Given the description of an element on the screen output the (x, y) to click on. 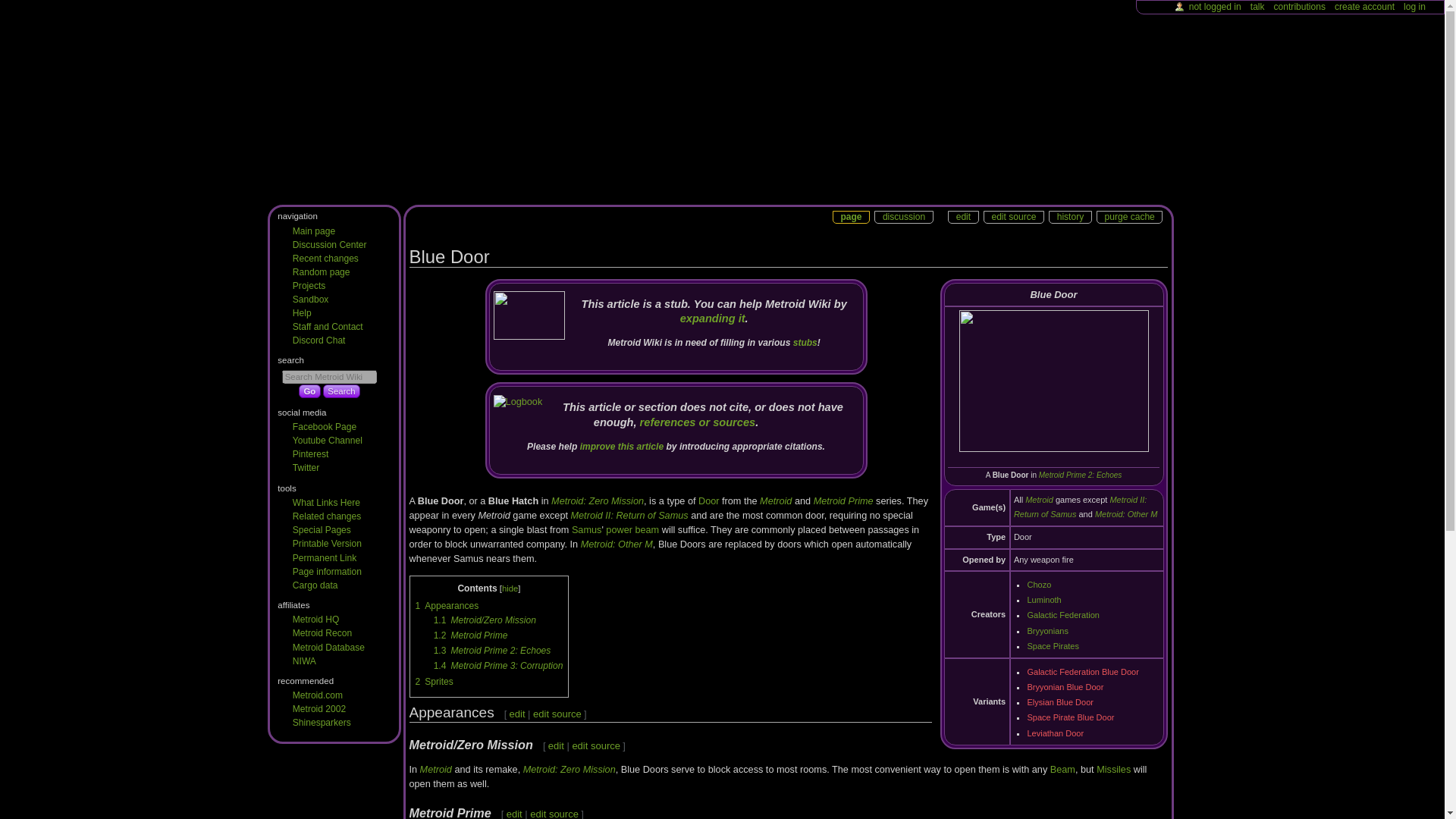
edit source (1013, 218)
Bryyonian Blue Door (1064, 686)
history (1069, 218)
Chozo (1038, 583)
Space Pirates (1052, 645)
Luminoth (1043, 599)
Metroid: Other M (1125, 513)
improve this article (621, 446)
Metroid Prime 2: Echoes (1080, 474)
